Given the description of an element on the screen output the (x, y) to click on. 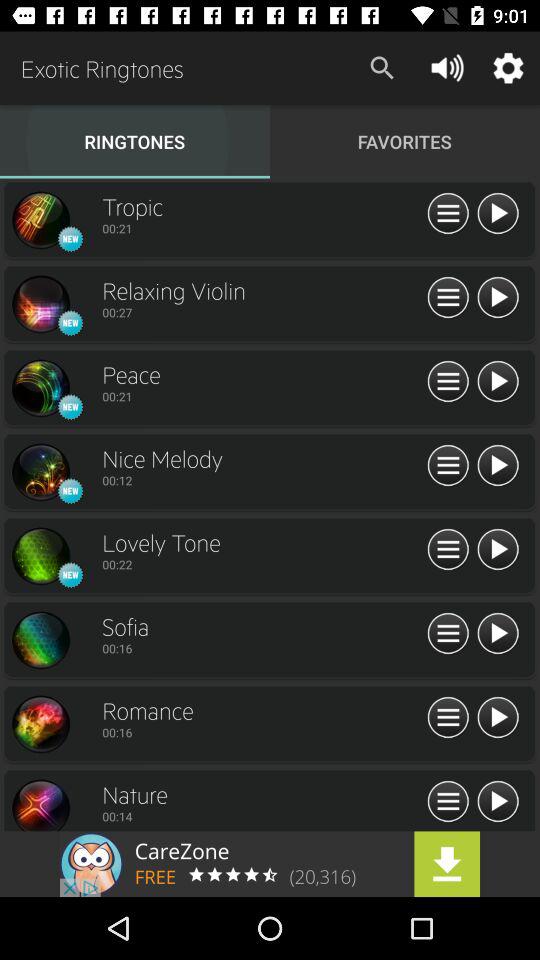
play the media file (497, 633)
